Given the description of an element on the screen output the (x, y) to click on. 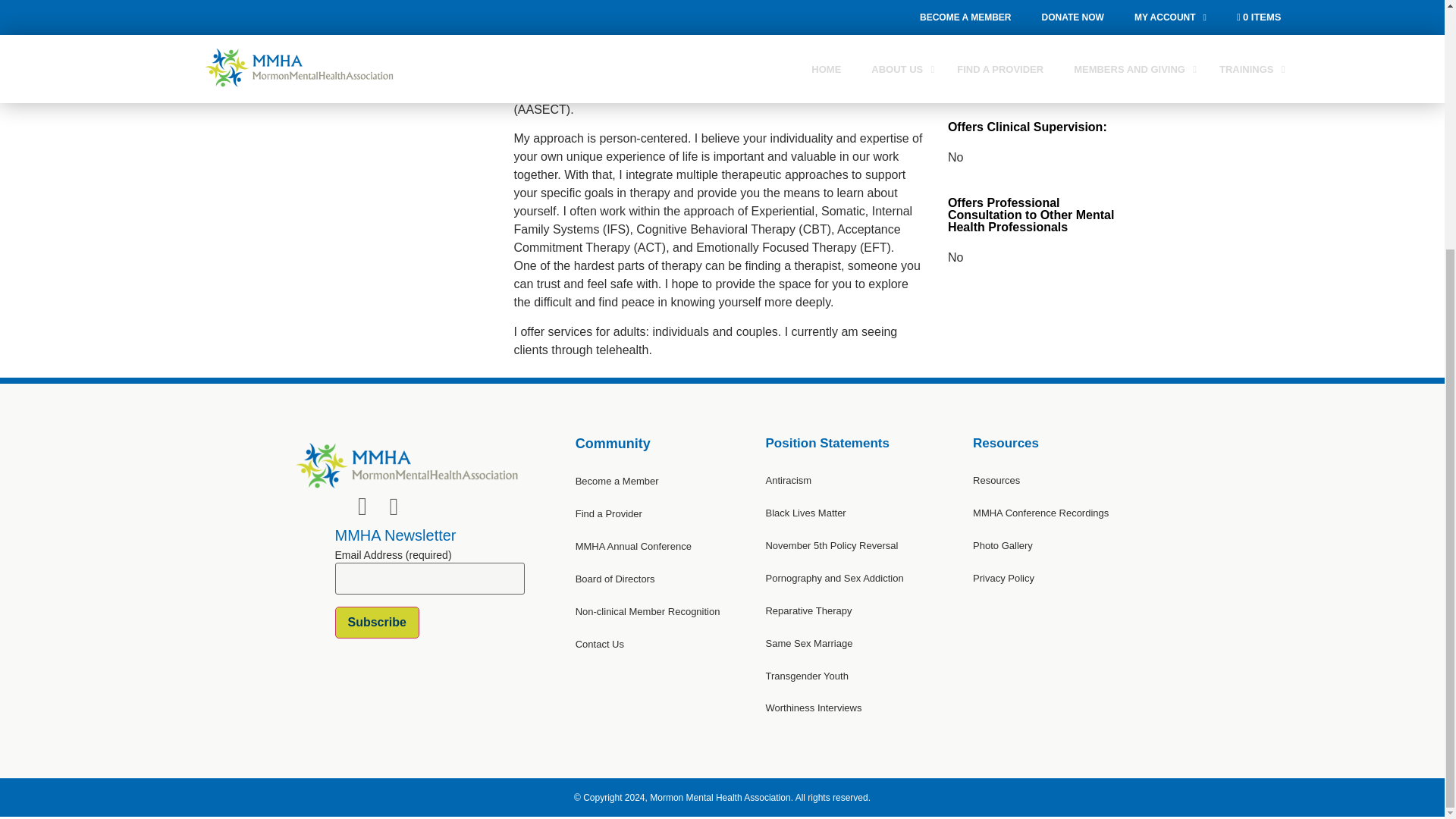
Subscribe (376, 622)
